Given the description of an element on the screen output the (x, y) to click on. 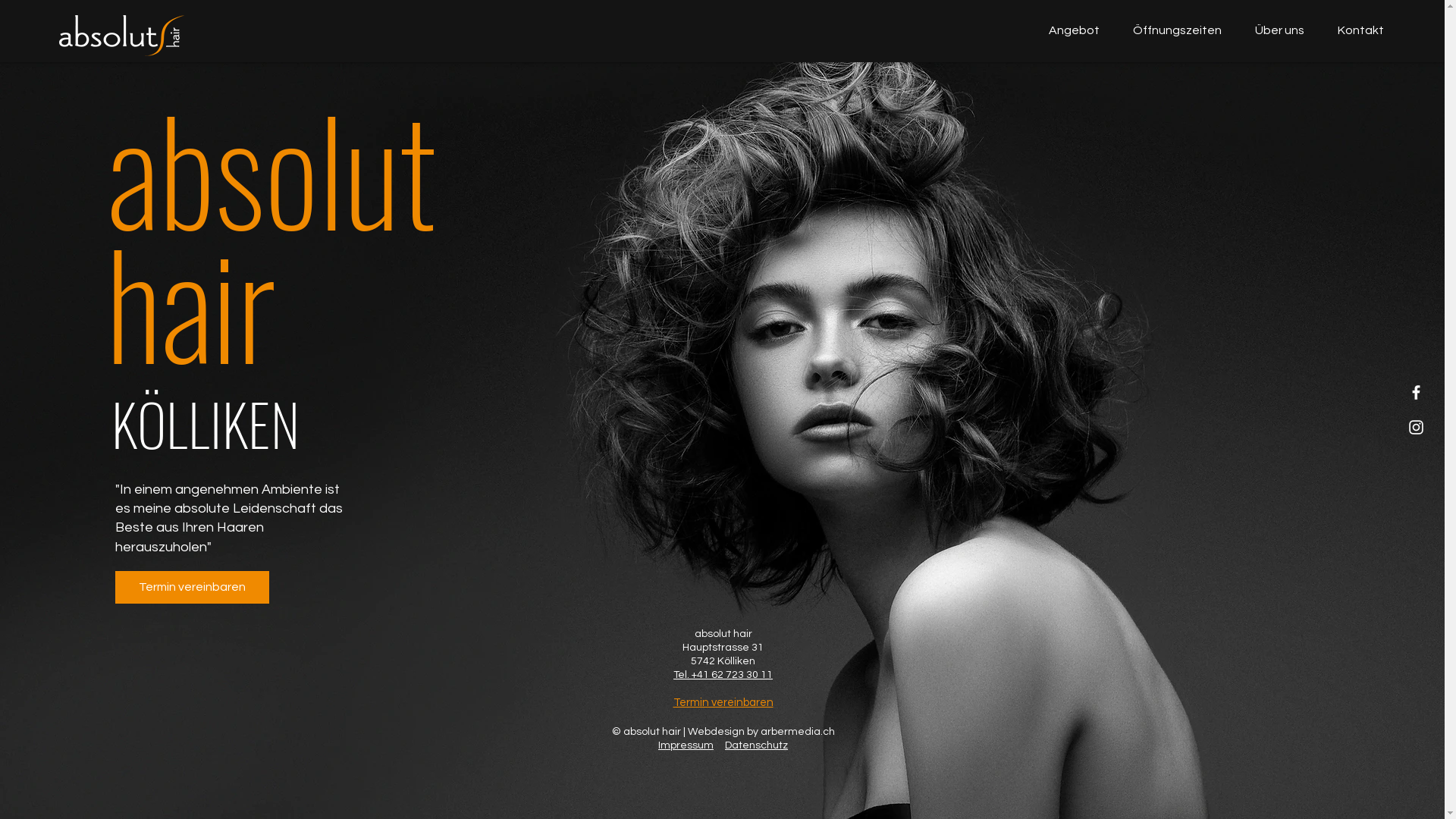
Angebot Element type: text (1068, 30)
Impressum Element type: text (685, 745)
Termin vereinbaren Element type: text (723, 702)
Kontakt Element type: text (1355, 30)
Termin vereinbaren Element type: text (192, 587)
Datenschutz Element type: text (755, 745)
Tel. +41 62 723 30 11 Element type: text (722, 674)
